Given the description of an element on the screen output the (x, y) to click on. 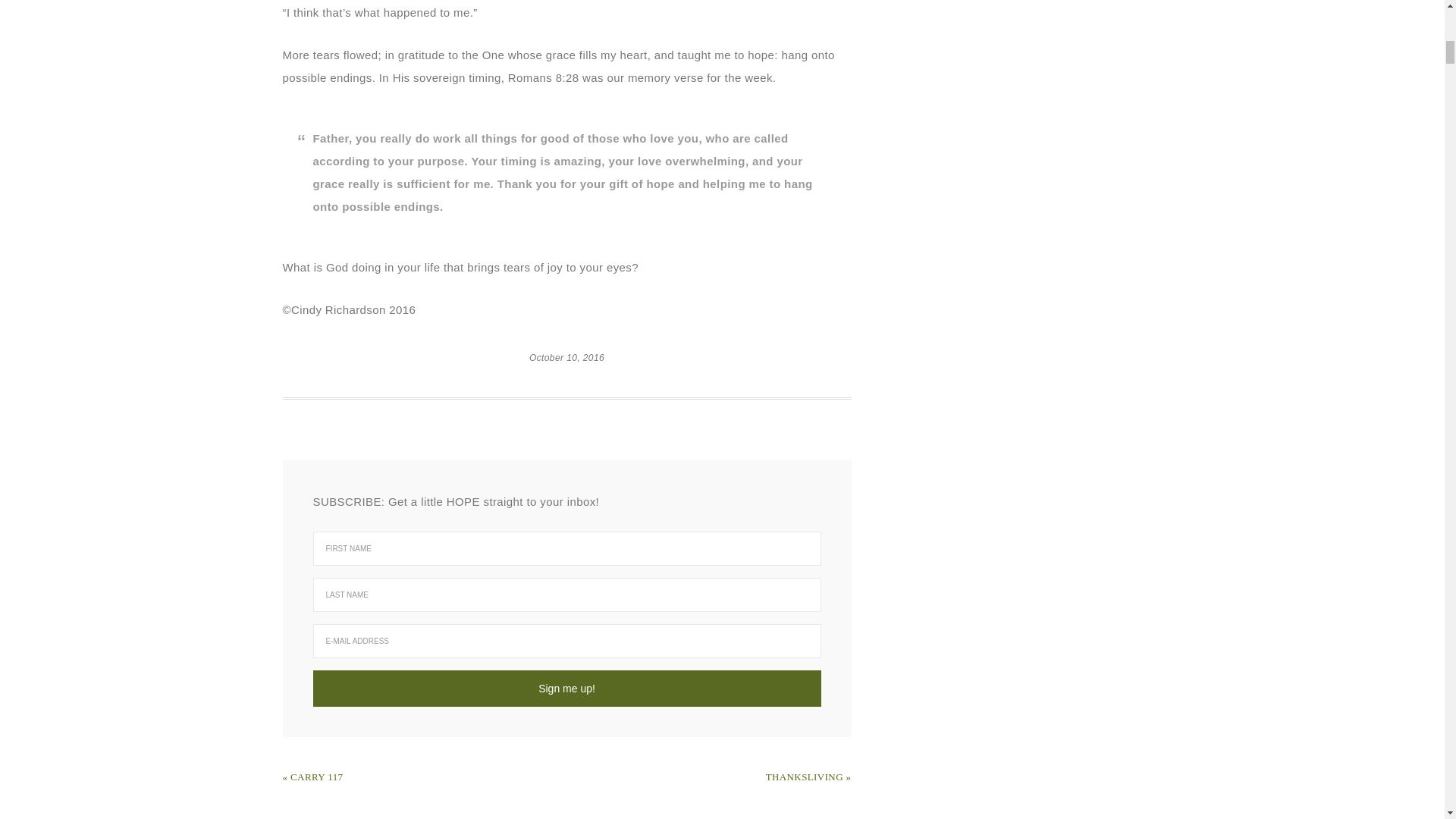
Sign me up! (567, 688)
Sign me up! (567, 688)
